Given the description of an element on the screen output the (x, y) to click on. 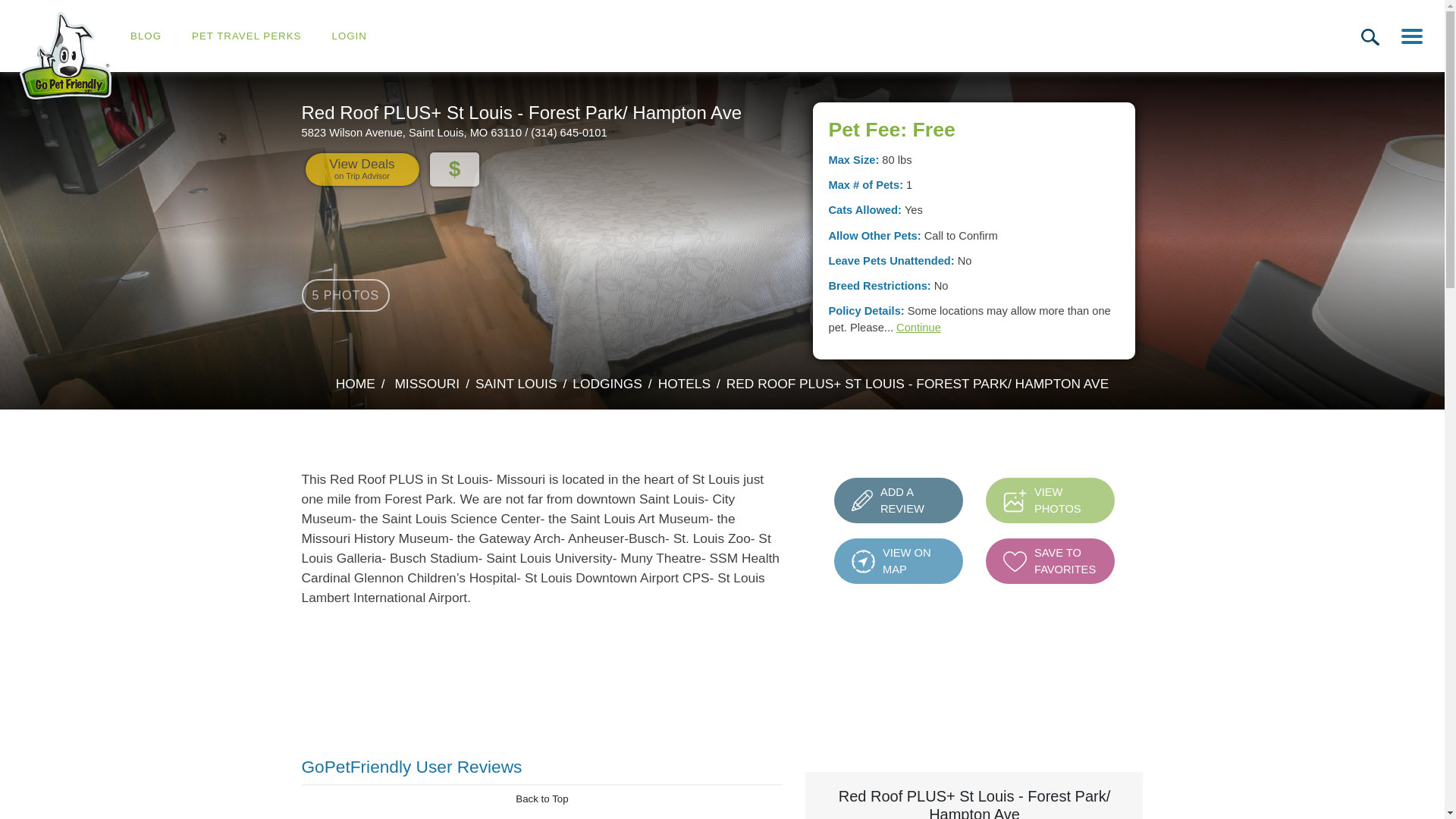
LOGIN (348, 35)
HOTELS (684, 383)
Continue (918, 327)
View On Map (863, 561)
BLOG (146, 35)
Add A Review (861, 500)
View Photos (1014, 500)
GoPetFriendly - Do More Together (1050, 500)
SAINT LOUIS (361, 169)
HOME (66, 55)
